Given the description of an element on the screen output the (x, y) to click on. 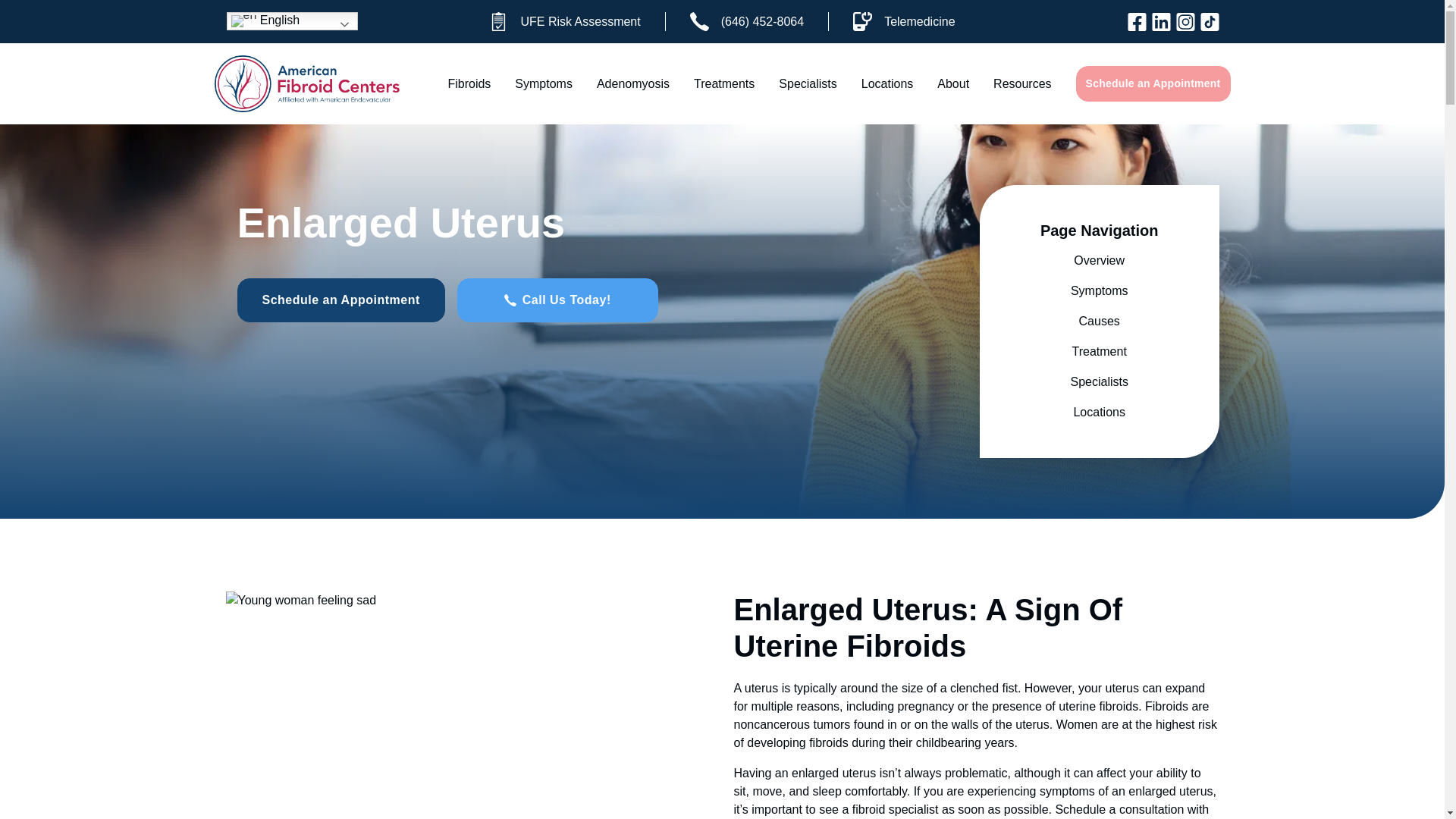
English (290, 21)
UFE Risk Assessment (564, 21)
Telemedicine (903, 21)
